Given the description of an element on the screen output the (x, y) to click on. 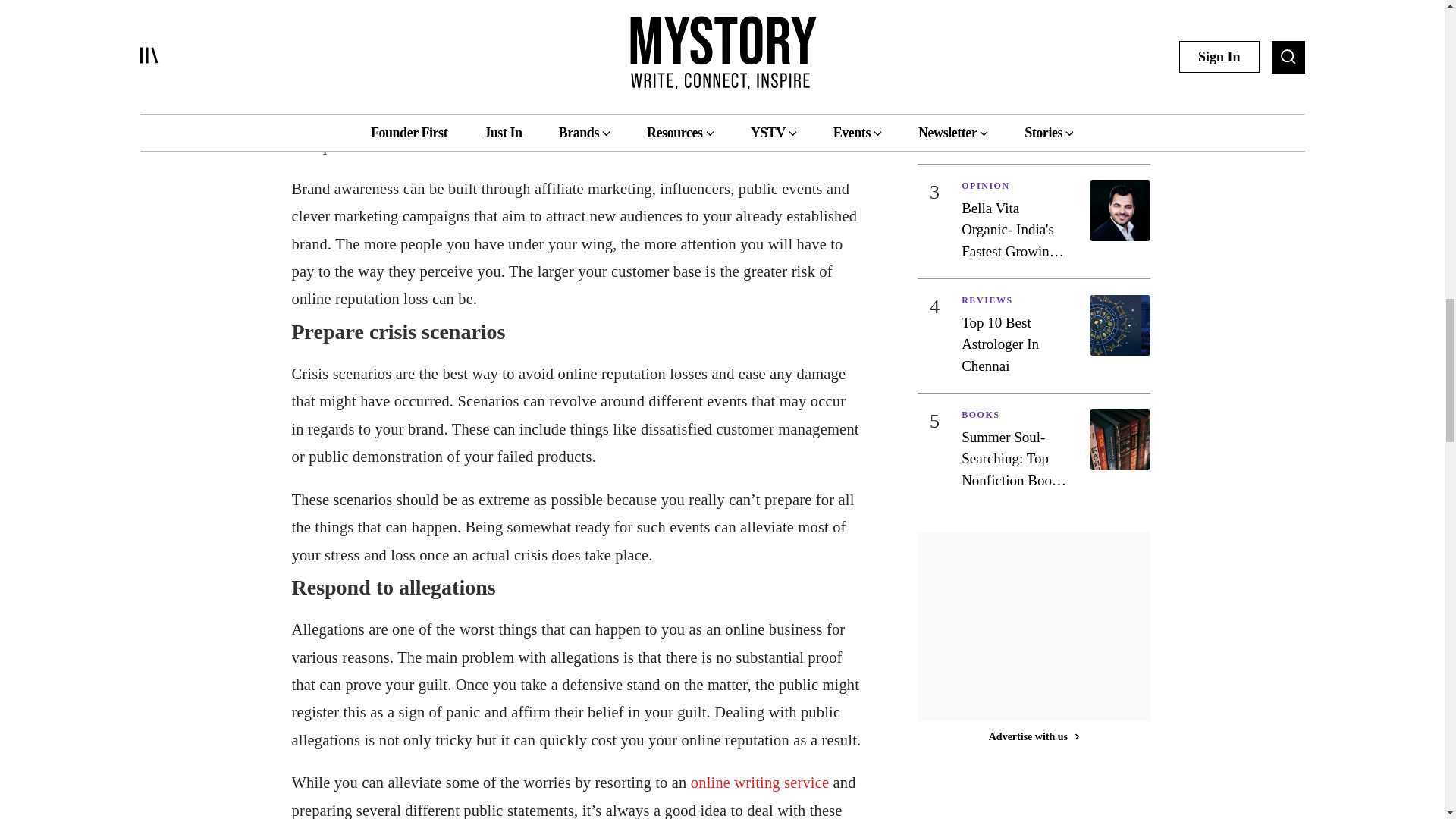
10 Best Websites To Become Fluent In English Online (1013, 115)
Summer Soul-Searching: Top Nonfiction Book Recommendations (1013, 459)
Top 10 Best Astrologer In Chennai (1013, 344)
Some Eye-Opening Osho Quotes That Will Grow Your Wisdom (1049, 20)
online writing service (759, 782)
REVIEWS (1013, 303)
3rd party ad content (1033, 794)
avoid unnecessary drama (425, 34)
3rd party ad content (1034, 629)
OPINION (1013, 189)
BOOKS (1013, 417)
